Given the description of an element on the screen output the (x, y) to click on. 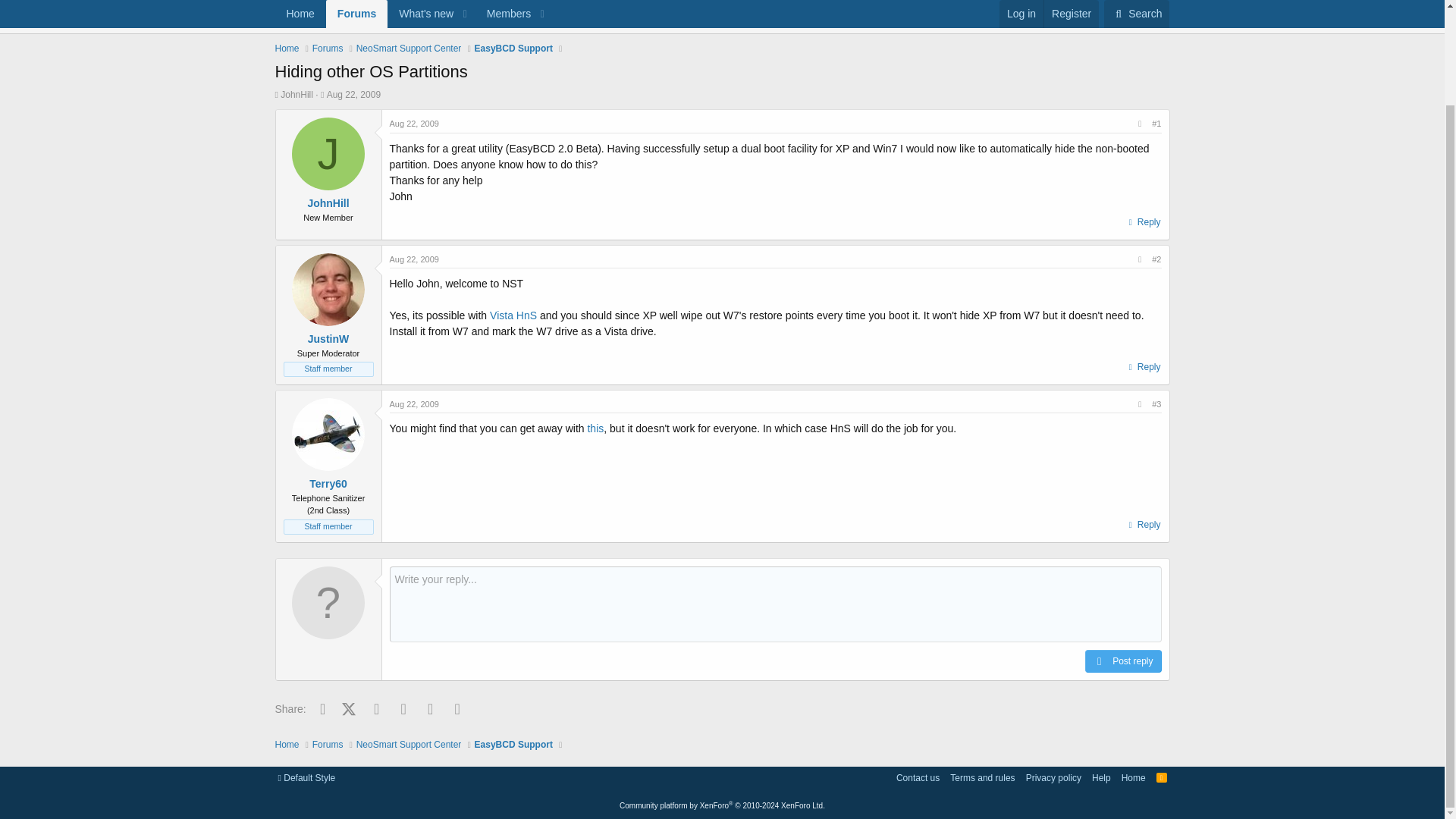
J (328, 153)
Aug 22, 2009 at 8:42 AM (414, 257)
Aug 22, 2009 (353, 94)
Forums (328, 48)
Search (1136, 5)
RSS (1161, 777)
Aug 22, 2009 at 6:25 AM (414, 122)
Search (720, 38)
